Given the description of an element on the screen output the (x, y) to click on. 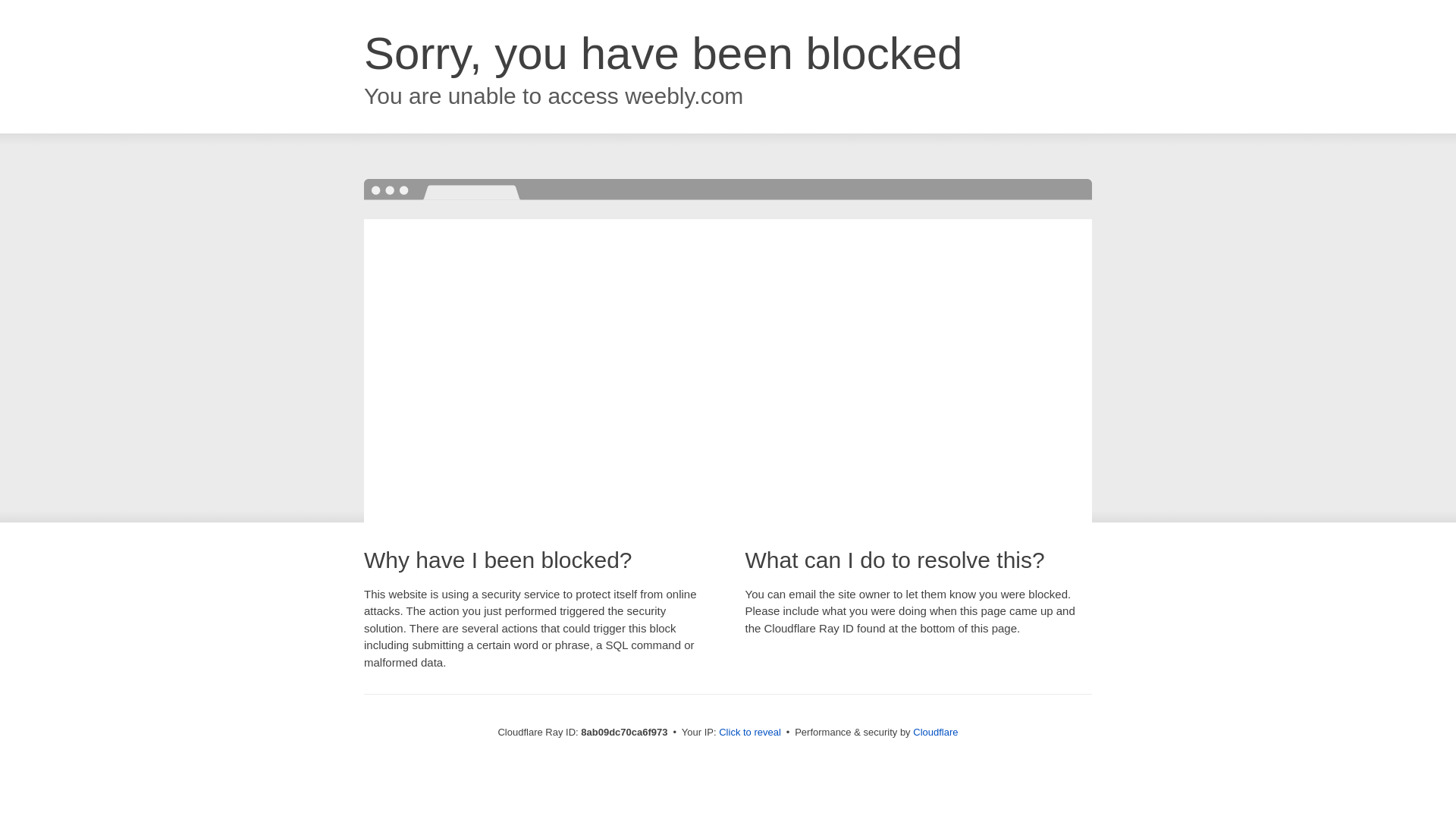
Cloudflare (935, 731)
Click to reveal (749, 732)
